Given the description of an element on the screen output the (x, y) to click on. 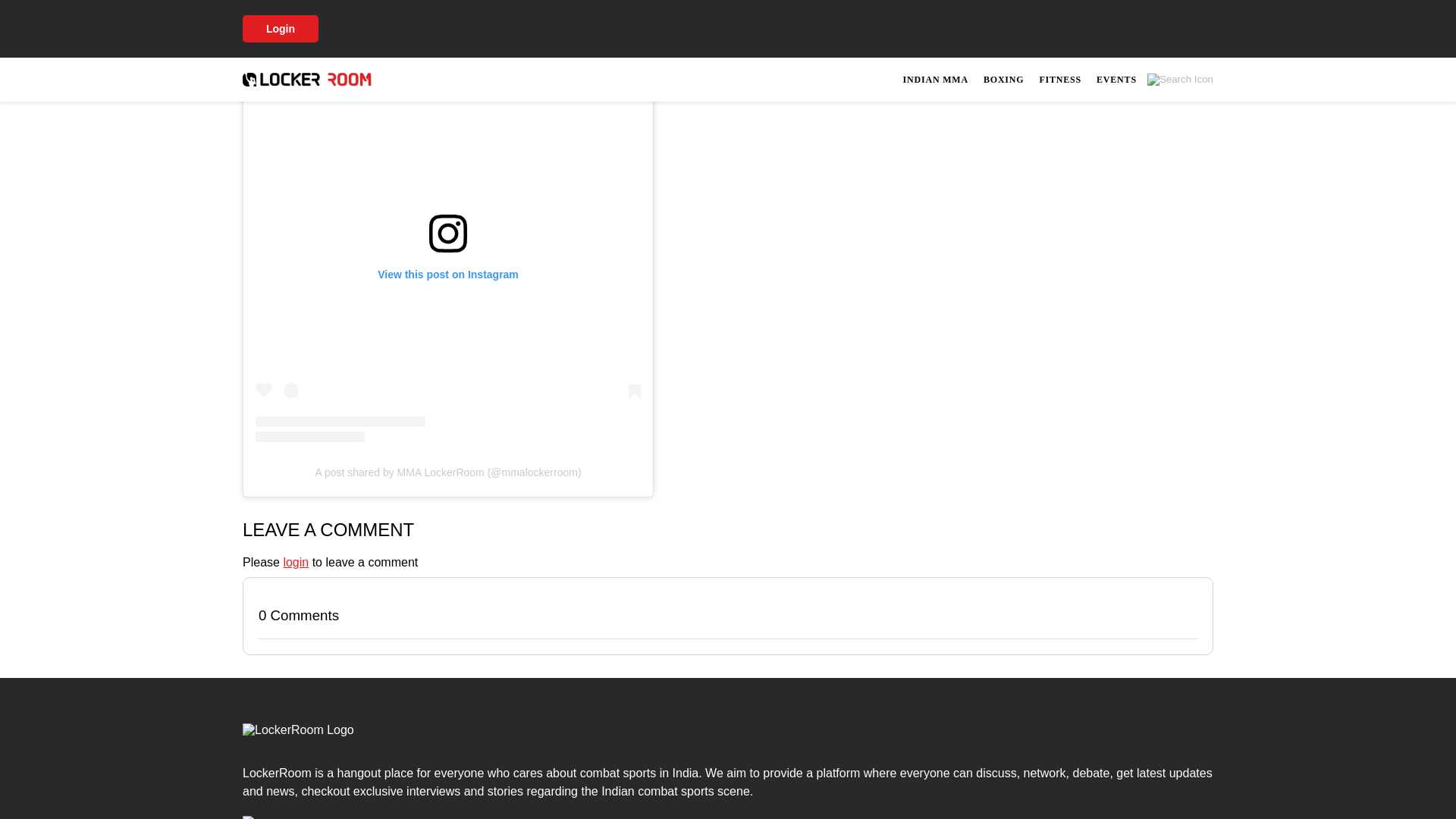
Stark Arena in Belgrade, Serbia (711, 6)
